Given the description of an element on the screen output the (x, y) to click on. 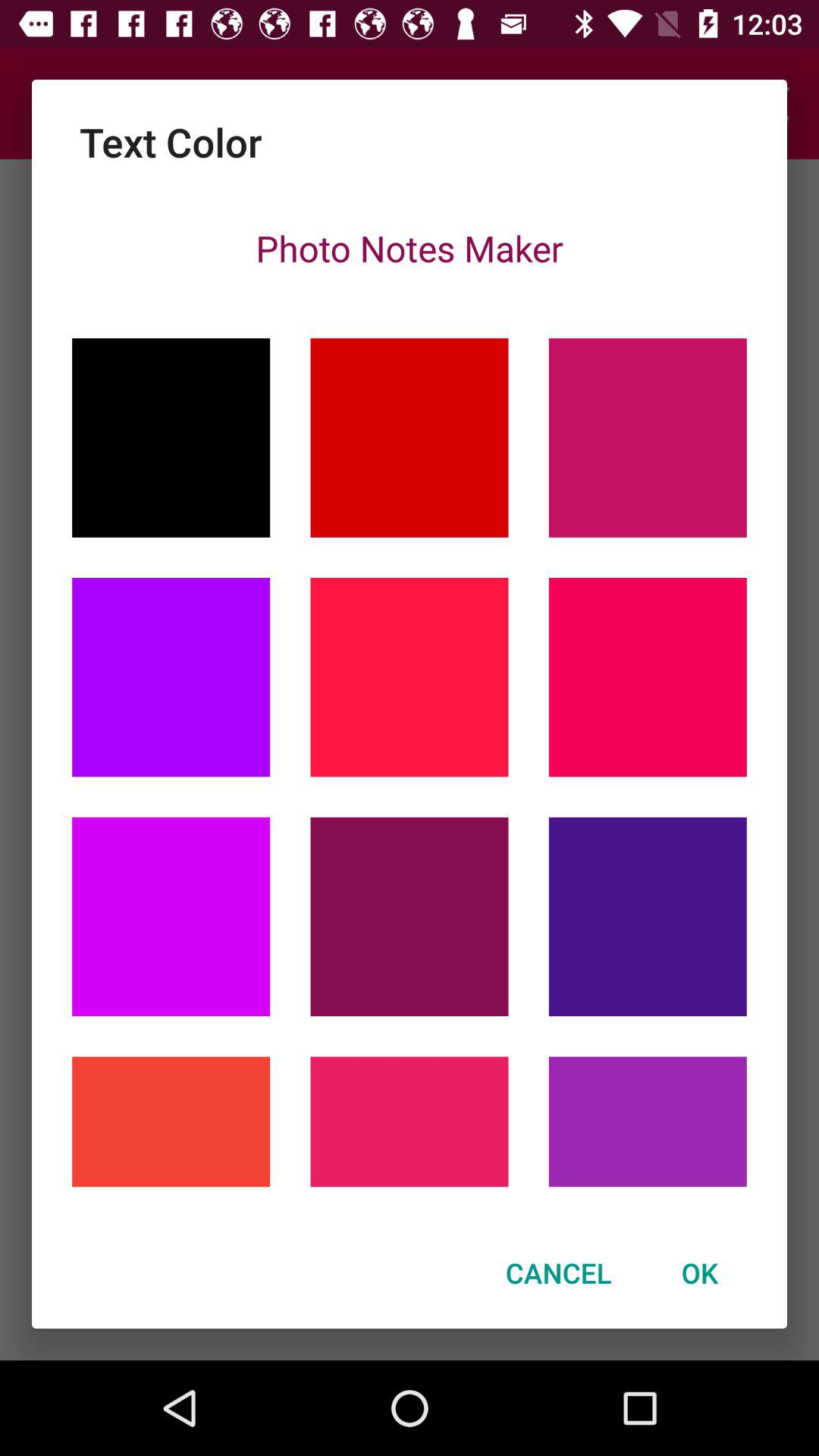
select the icon next to cancel (699, 1272)
